Given the description of an element on the screen output the (x, y) to click on. 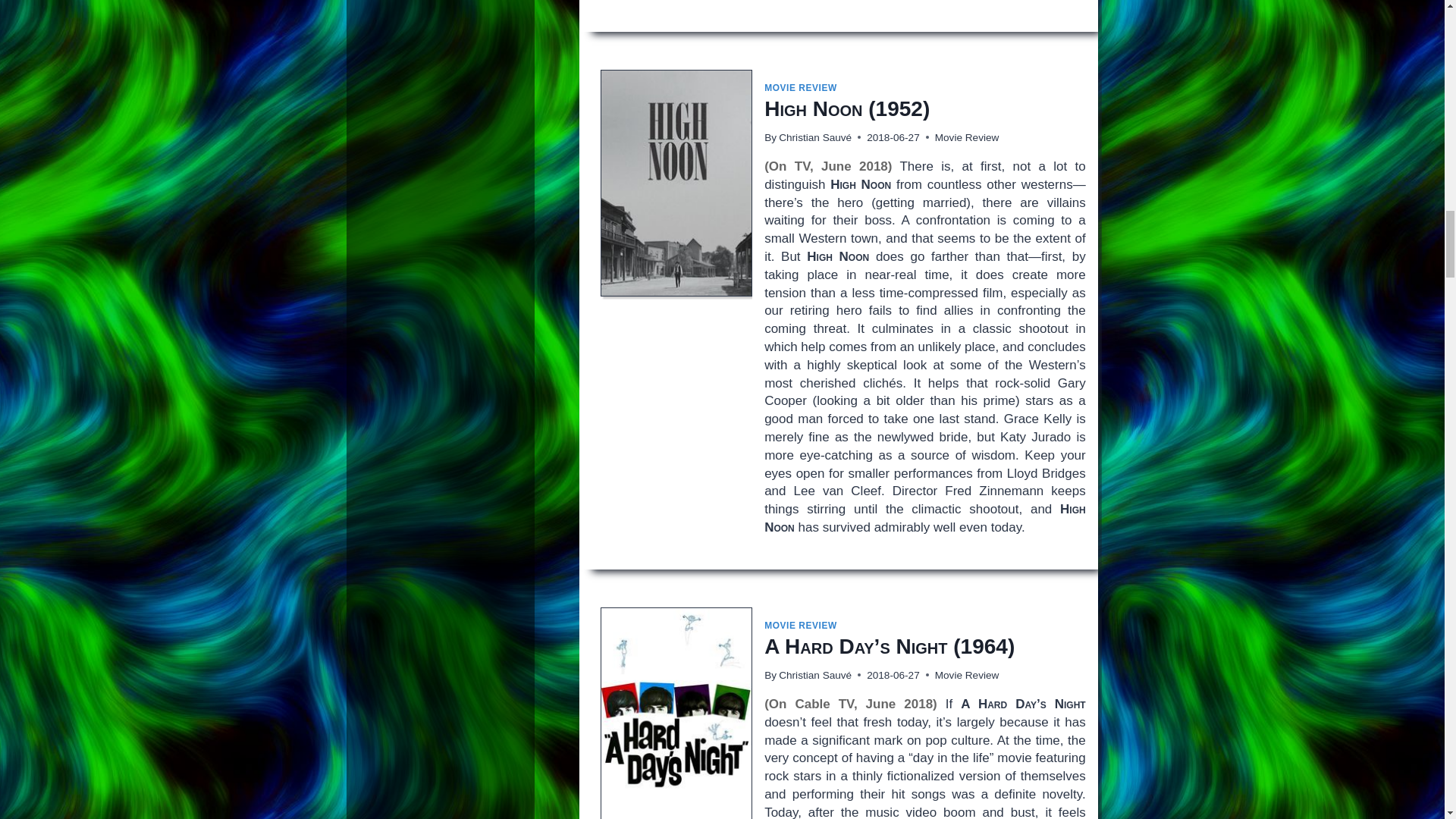
MOVIE REVIEW (800, 624)
MOVIE REVIEW (800, 87)
Movie Review (966, 137)
Movie Review (966, 674)
